Given the description of an element on the screen output the (x, y) to click on. 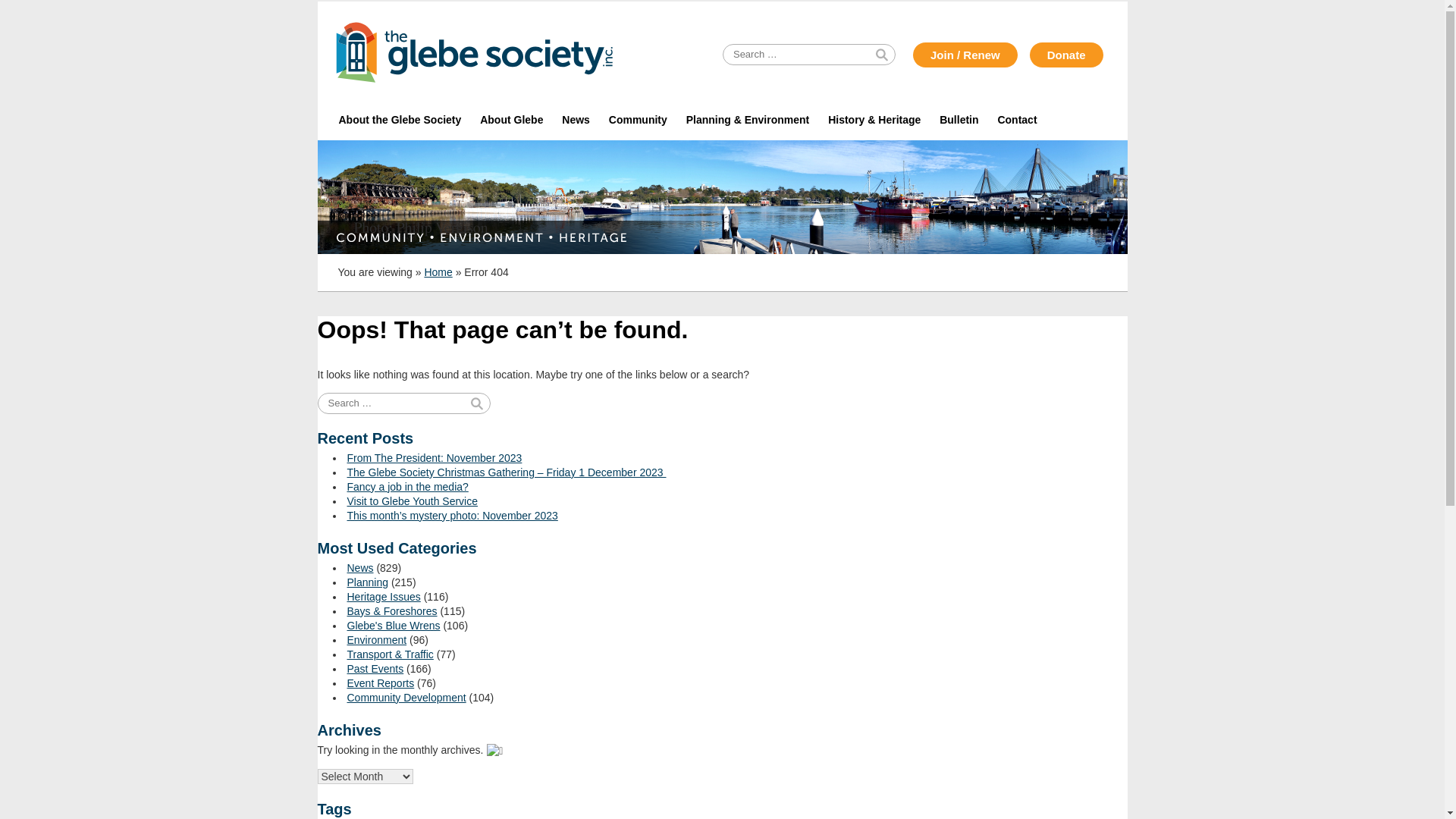
Community Element type: text (637, 119)
History & Heritage Element type: text (874, 119)
Past Events Element type: text (375, 668)
About the Glebe Society Element type: text (399, 119)
Bulletin Element type: text (958, 119)
Join / Renew Element type: text (965, 54)
Visit to Glebe Youth Service Element type: text (412, 501)
Planning & Environment Element type: text (747, 119)
Contact Element type: text (1016, 119)
Heritage Issues Element type: text (383, 596)
Search Element type: text (36, 10)
Community Development Element type: text (406, 697)
Glebe's Blue Wrens Element type: text (393, 625)
News Element type: text (360, 567)
Home Element type: text (437, 272)
Bays & Foreshores Element type: text (392, 611)
Planning Element type: text (368, 582)
From The President: November 2023 Element type: text (434, 457)
Transport & Traffic Element type: text (390, 654)
News Element type: text (576, 119)
Event Reports Element type: text (380, 683)
Donate Element type: text (1066, 54)
Environment Element type: text (377, 639)
Fancy a job in the media? Element type: text (407, 486)
About Glebe Element type: text (511, 119)
